Given the description of an element on the screen output the (x, y) to click on. 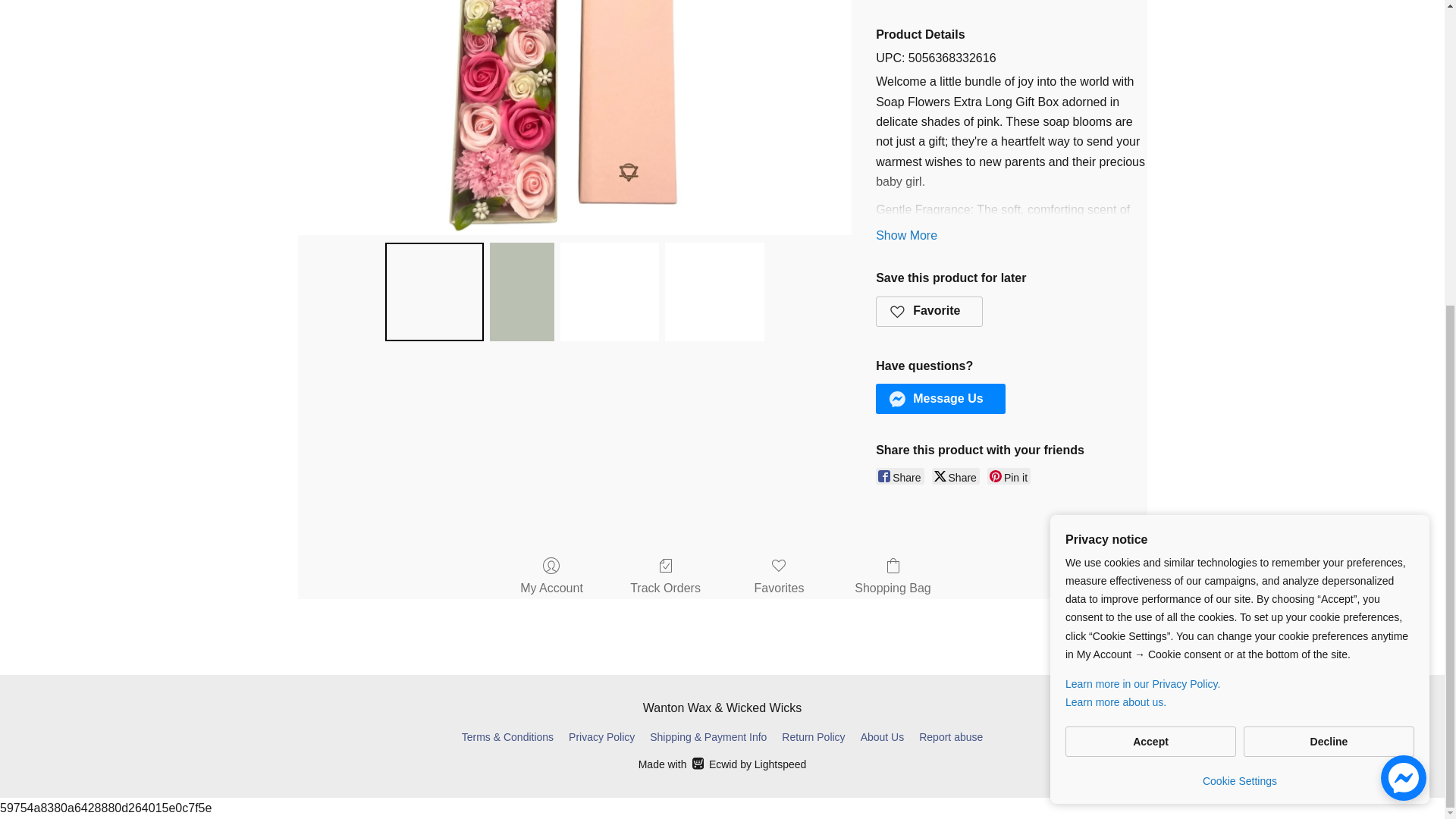
Share (955, 475)
Shopping Bag (893, 577)
Learn more about us. (1239, 222)
My Account (551, 577)
Soap Flowers Extra Long Gift Box - Baby Blessings - Pinks (574, 117)
Pin it (1008, 475)
Accept (1150, 262)
Track Orders (665, 577)
Show More (906, 235)
Learn more in our Privacy Policy. (1239, 204)
Favorites (779, 577)
Message Us (941, 399)
Favorite (929, 311)
Share (899, 475)
